Given the description of an element on the screen output the (x, y) to click on. 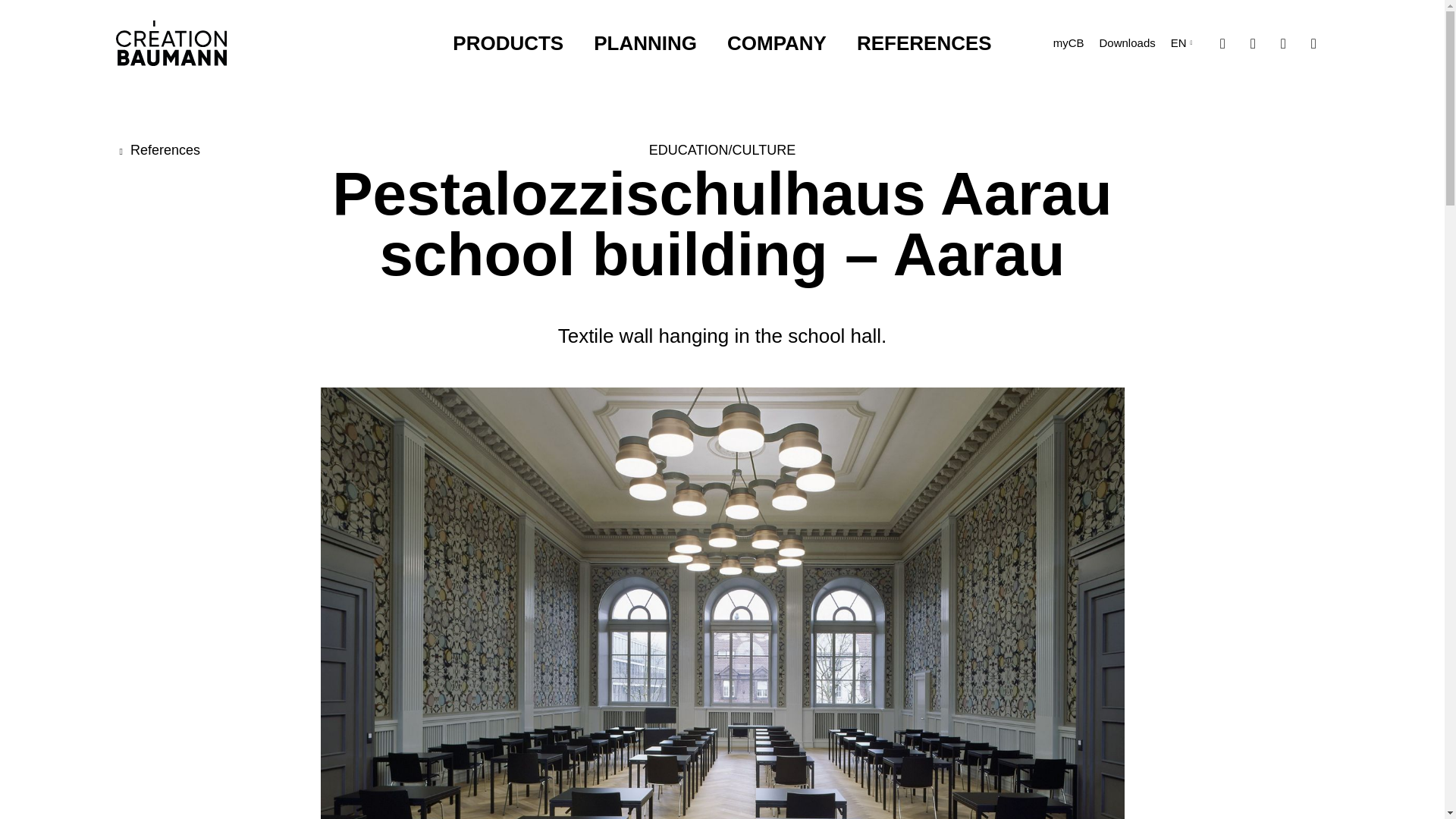
REFERENCES (924, 43)
PRODUCTS (508, 43)
Downloads (1127, 42)
PLANNING (644, 43)
myCB (1068, 42)
References (157, 149)
COMPANY (776, 43)
EN (1182, 42)
